Given the description of an element on the screen output the (x, y) to click on. 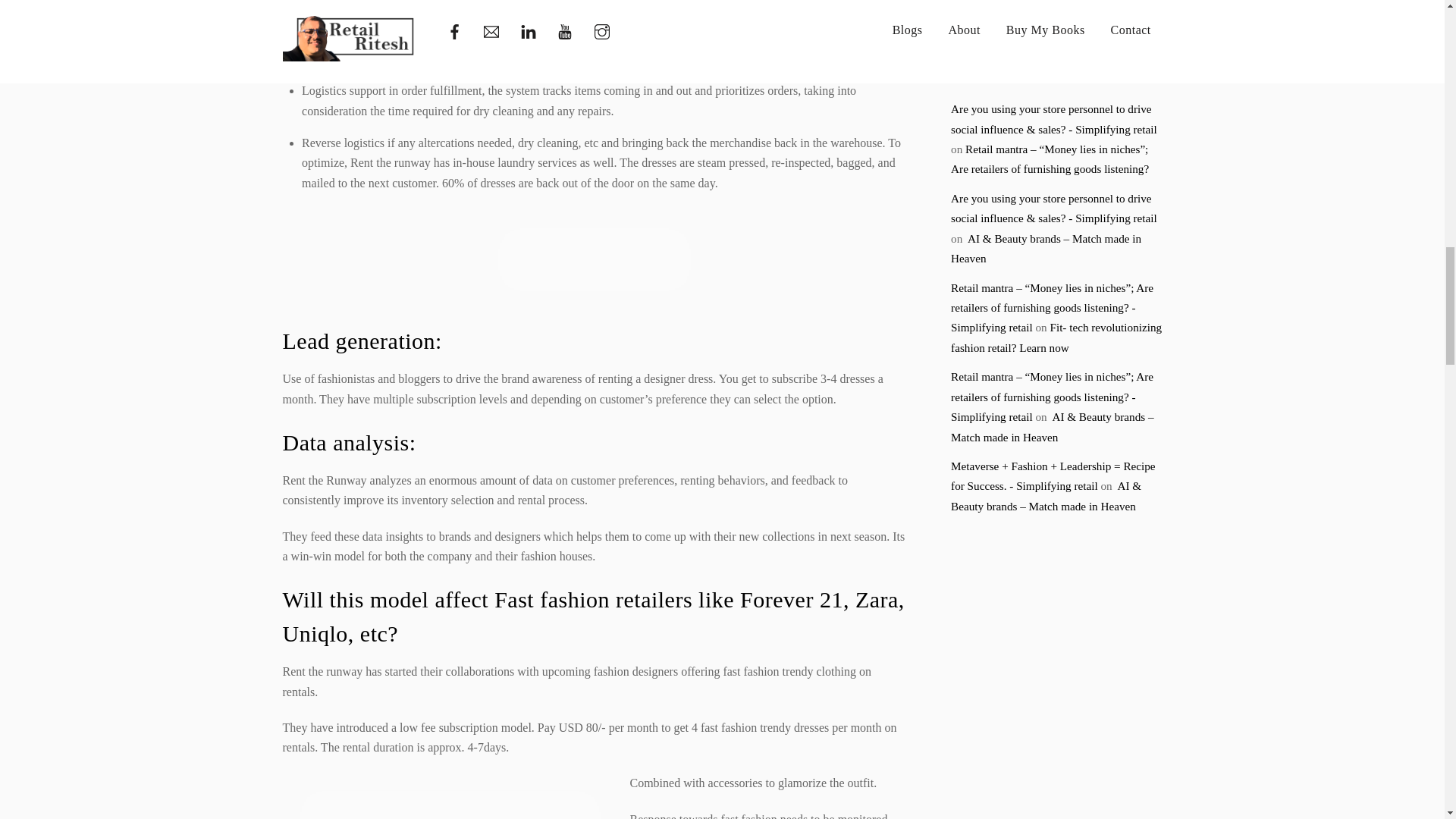
meta verse (969, 10)
